Given the description of an element on the screen output the (x, y) to click on. 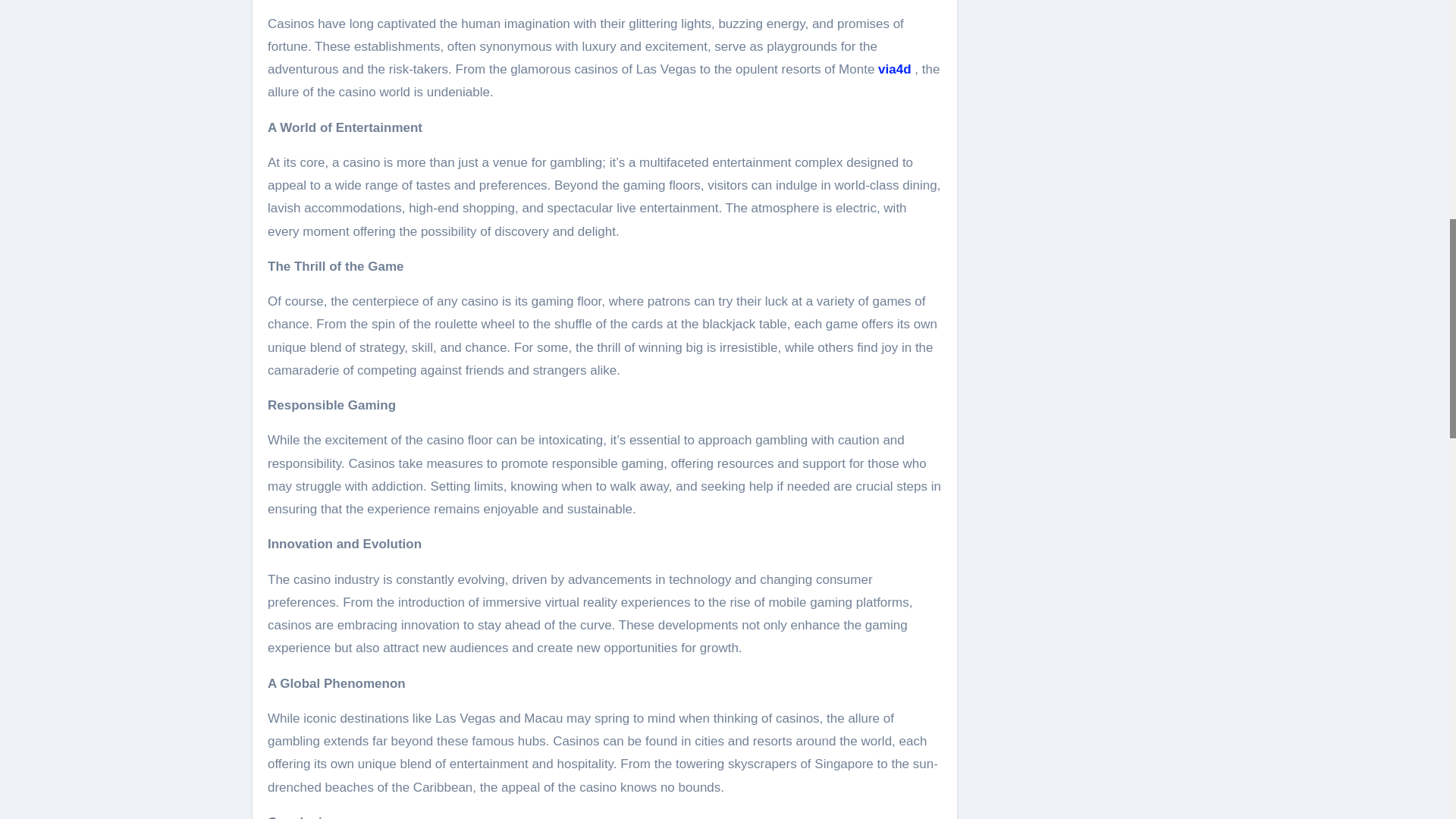
via4d (894, 69)
